Given the description of an element on the screen output the (x, y) to click on. 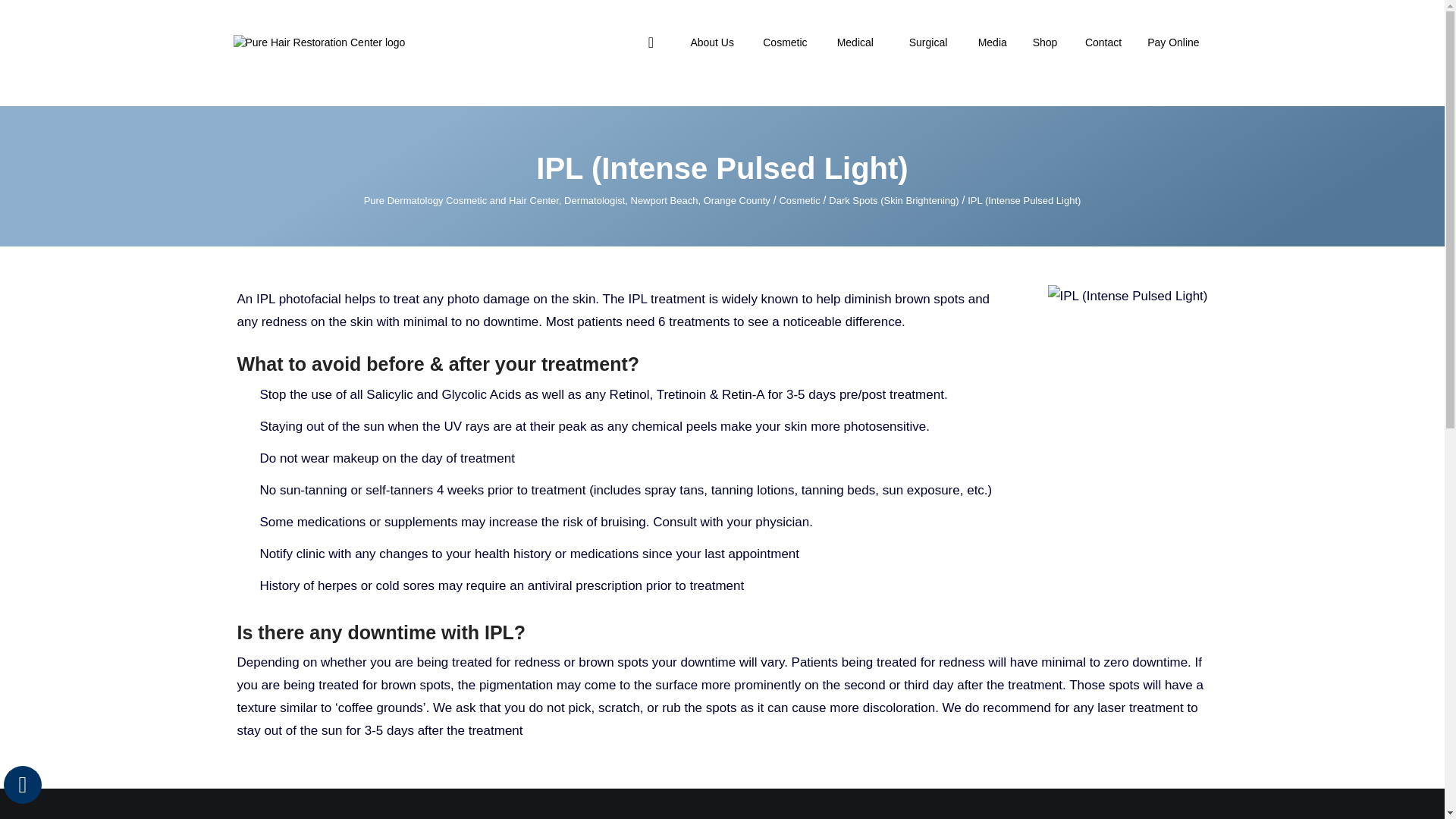
Home (651, 42)
Accessible Tool Options (23, 784)
About Us (711, 42)
Cosmetic (784, 42)
Hide (22, 784)
